Given the description of an element on the screen output the (x, y) to click on. 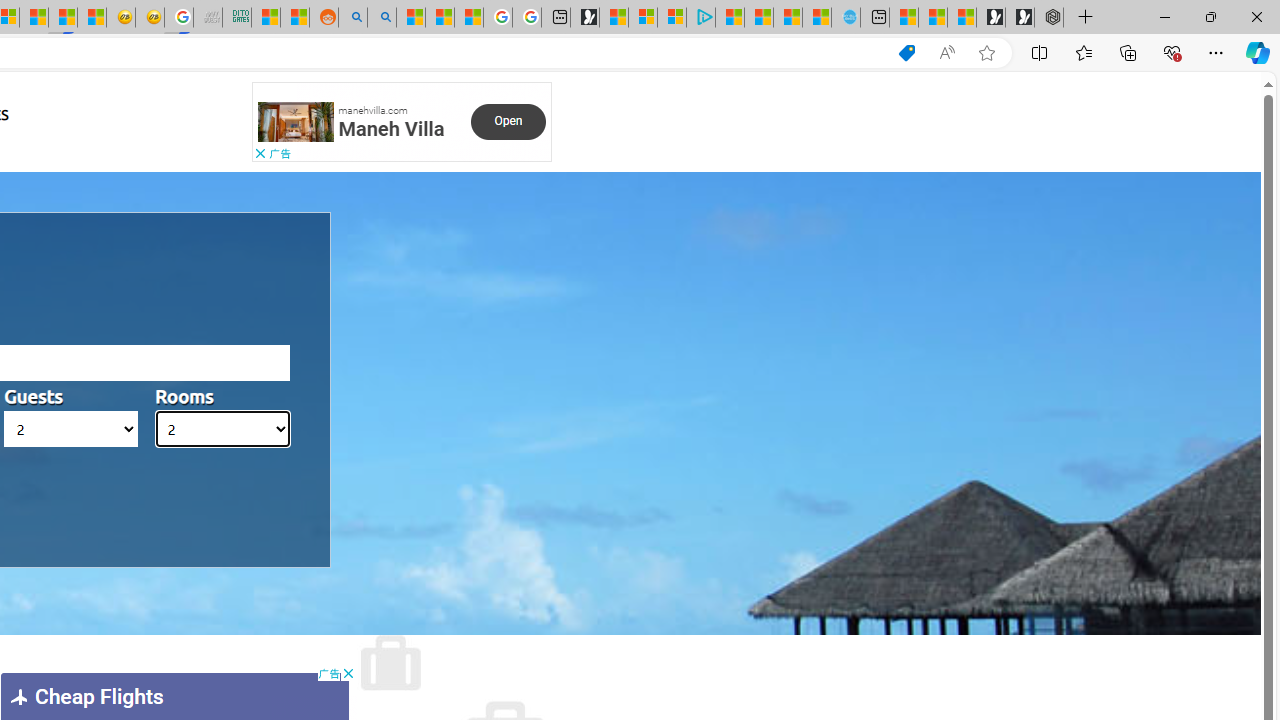
AutomationID: cbb (347, 673)
Class: ns-pn6gp-e-16 svg-anchor (296, 121)
Utah sues federal government - Search (381, 17)
